Given the description of an element on the screen output the (x, y) to click on. 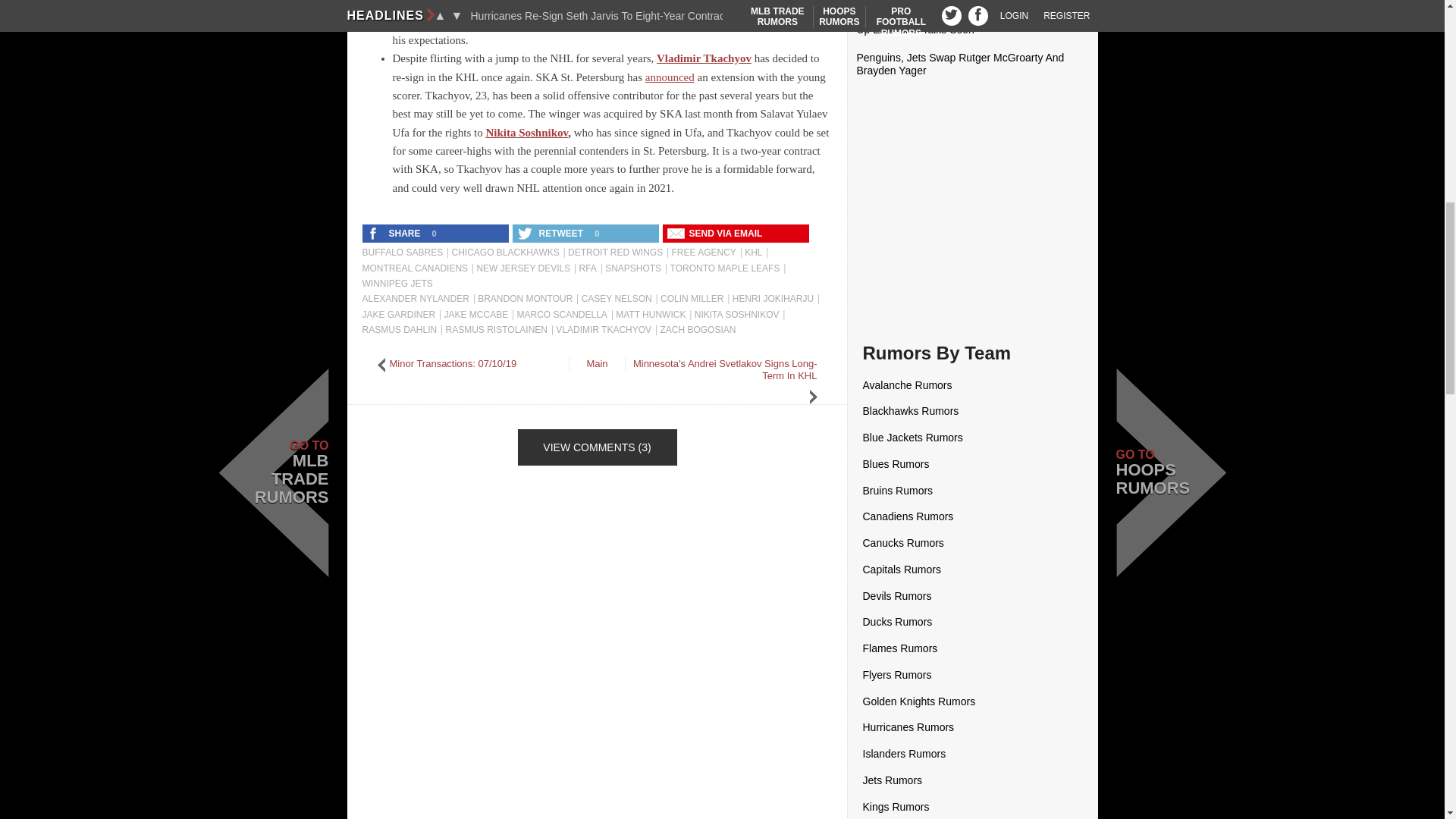
Share 'Snapshots: Sabres, Gardiner, Tkachyov' on Facebook (395, 233)
Retweet 'Snapshots: Sabres, Gardiner, Tkachyov' on Twitter (551, 233)
Send Snapshots: Sabres, Gardiner, Tkachyov with an email (716, 233)
